Given the description of an element on the screen output the (x, y) to click on. 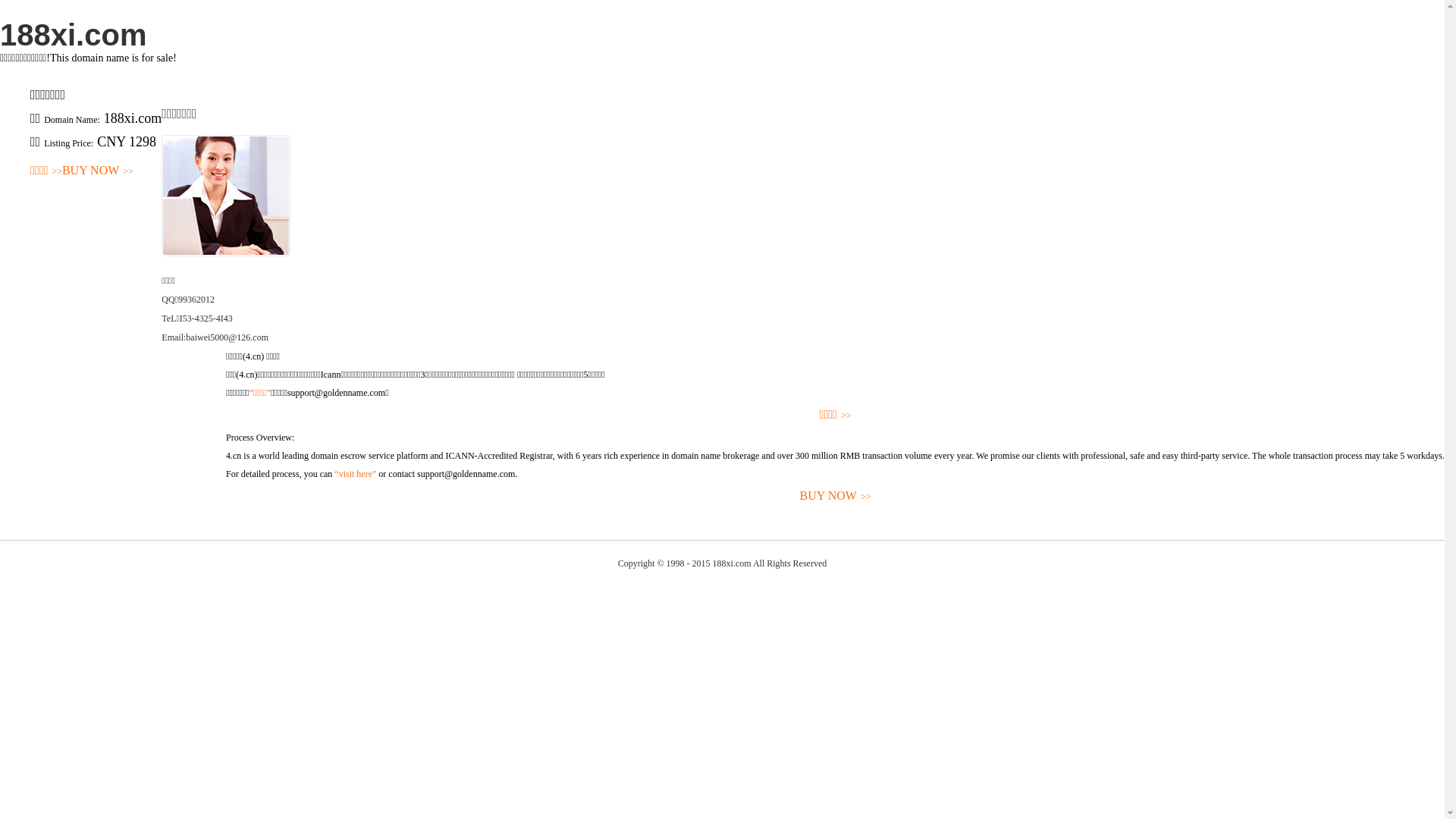
BUY NOW>> Element type: text (834, 496)
BUY NOW>> Element type: text (97, 170)
